Given the description of an element on the screen output the (x, y) to click on. 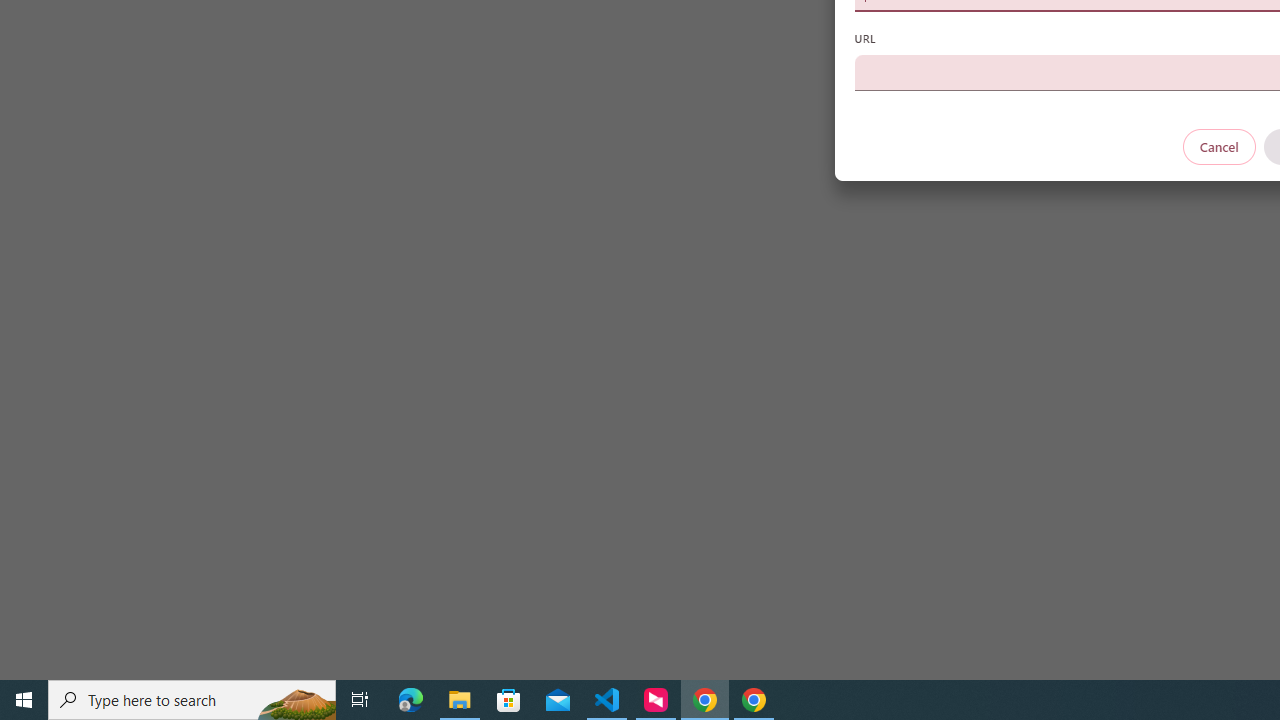
Cancel (1218, 146)
